Given the description of an element on the screen output the (x, y) to click on. 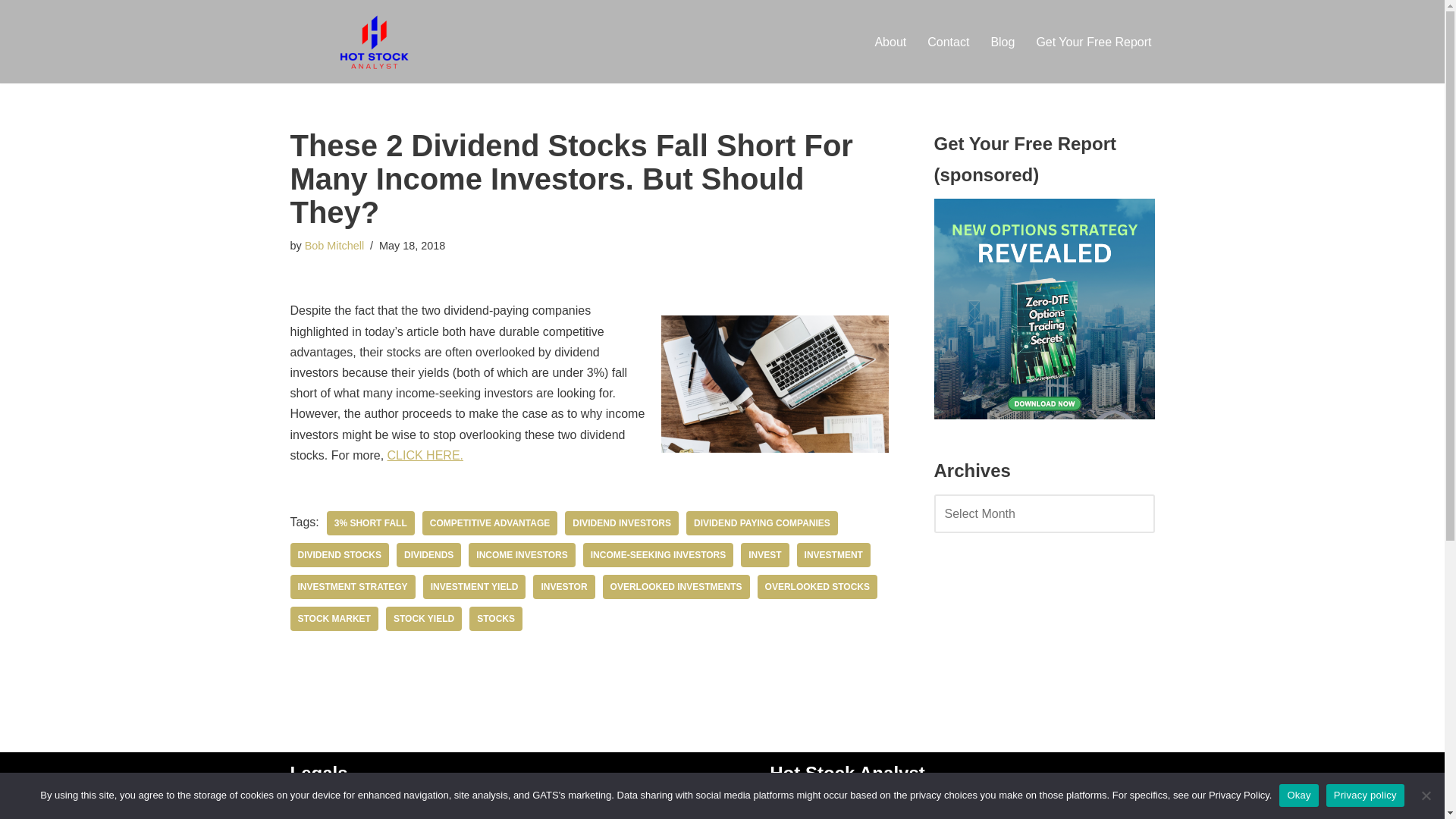
Privacy Policy (327, 807)
Income Investors (521, 554)
INVESTMENT (833, 554)
CLICK HERE. (425, 454)
INCOME-SEEKING INVESTORS (658, 554)
Dividend Investors (621, 523)
STOCKS (495, 618)
About (786, 807)
Bob Mitchell (334, 245)
DIVIDEND INVESTORS (621, 523)
